Given the description of an element on the screen output the (x, y) to click on. 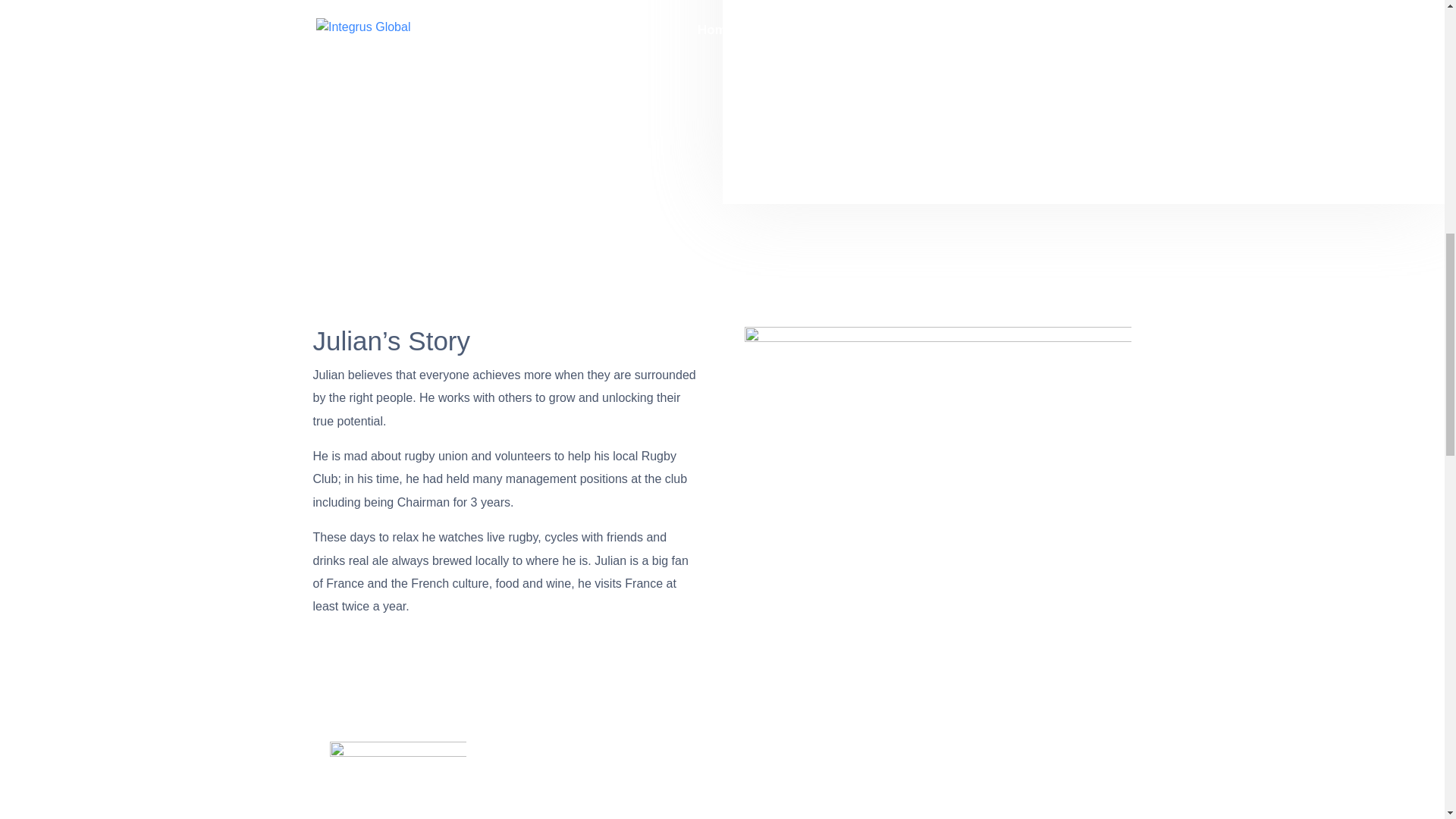
red-quote (397, 780)
Portraits-Julian (937, 435)
